Given the description of an element on the screen output the (x, y) to click on. 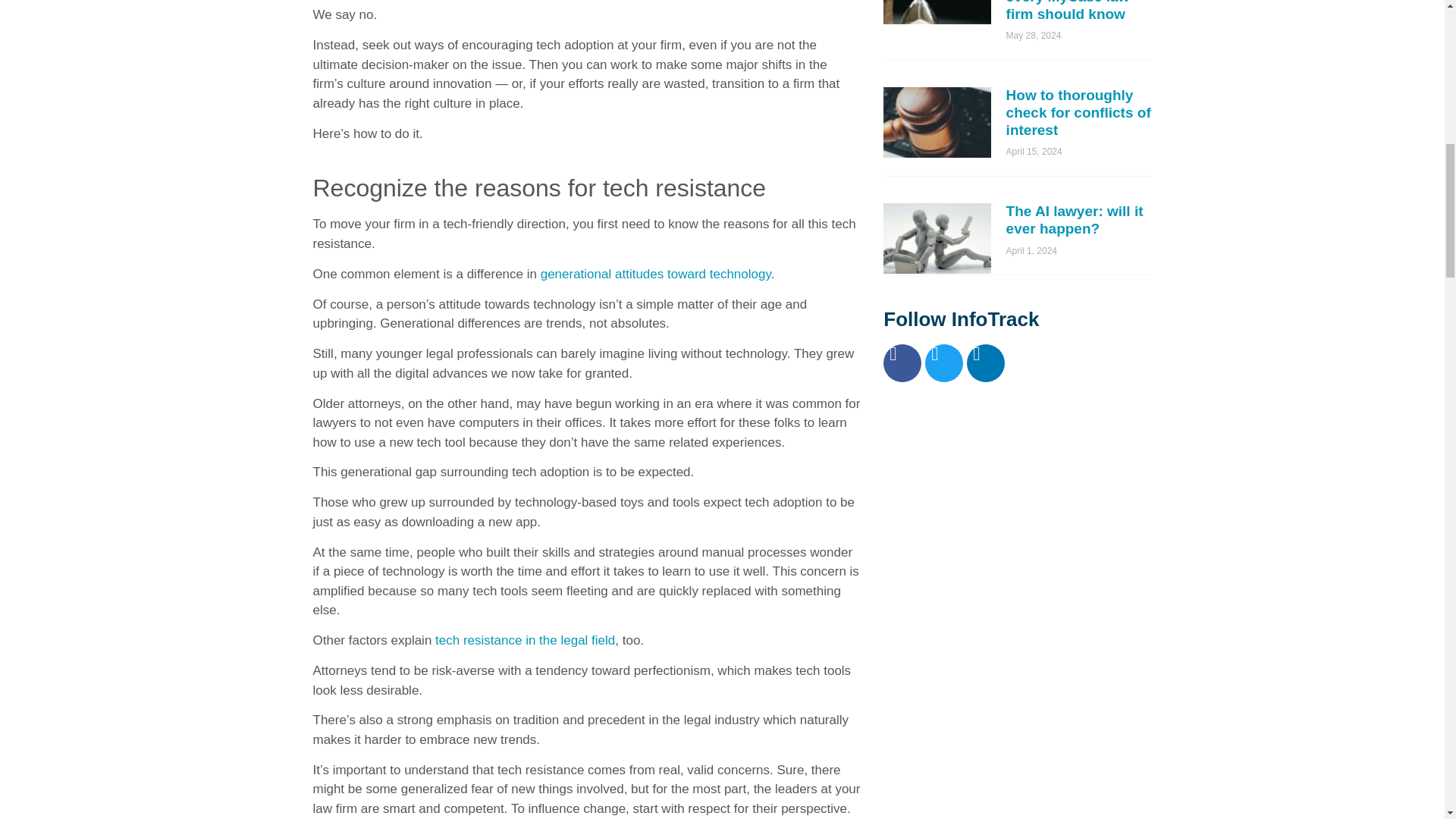
tech resistance in the legal field (524, 640)
generational attitudes toward technology (655, 273)
